Given the description of an element on the screen output the (x, y) to click on. 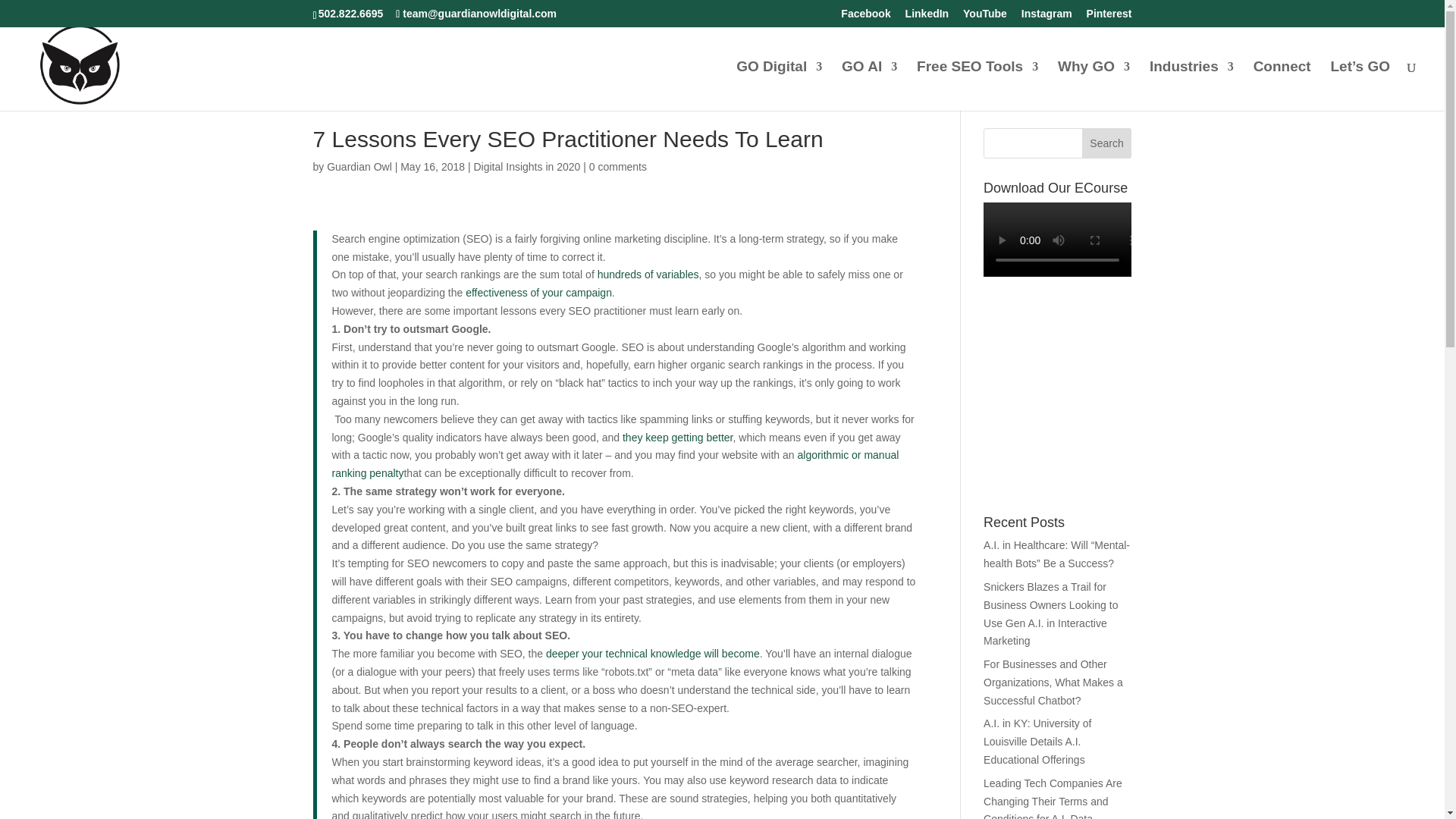
Search (1106, 142)
Industries (1191, 85)
YouTube (984, 16)
Instagram (1046, 16)
Facebook (865, 16)
Why GO (1093, 85)
LinkedIn (927, 16)
GO AI (868, 85)
Pinterest (1109, 16)
Posts by Guardian Owl (358, 166)
Free SEO Tools (977, 85)
GO Digital (779, 85)
